Given the description of an element on the screen output the (x, y) to click on. 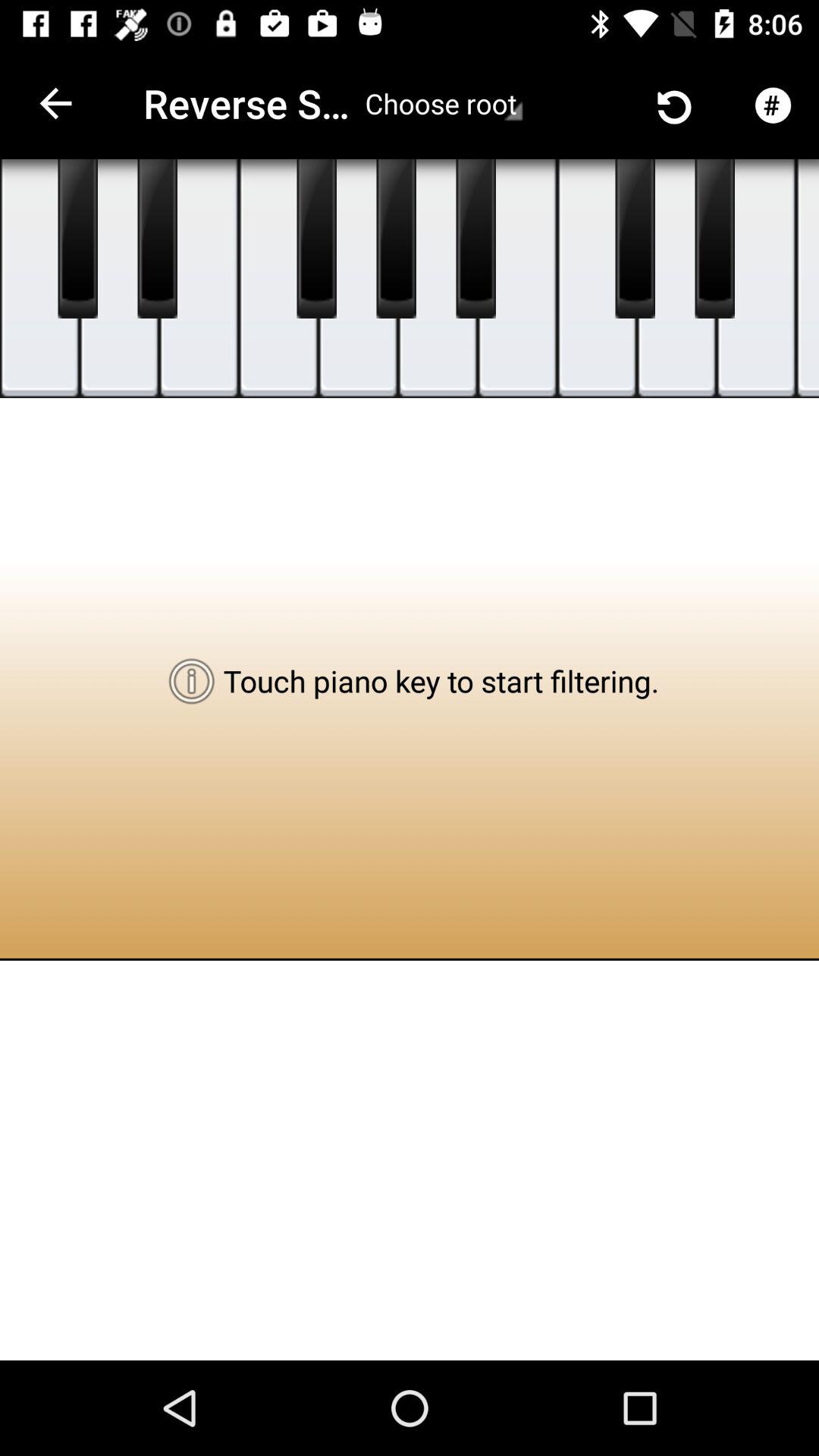
piano key board touch left first key (77, 238)
